Given the description of an element on the screen output the (x, y) to click on. 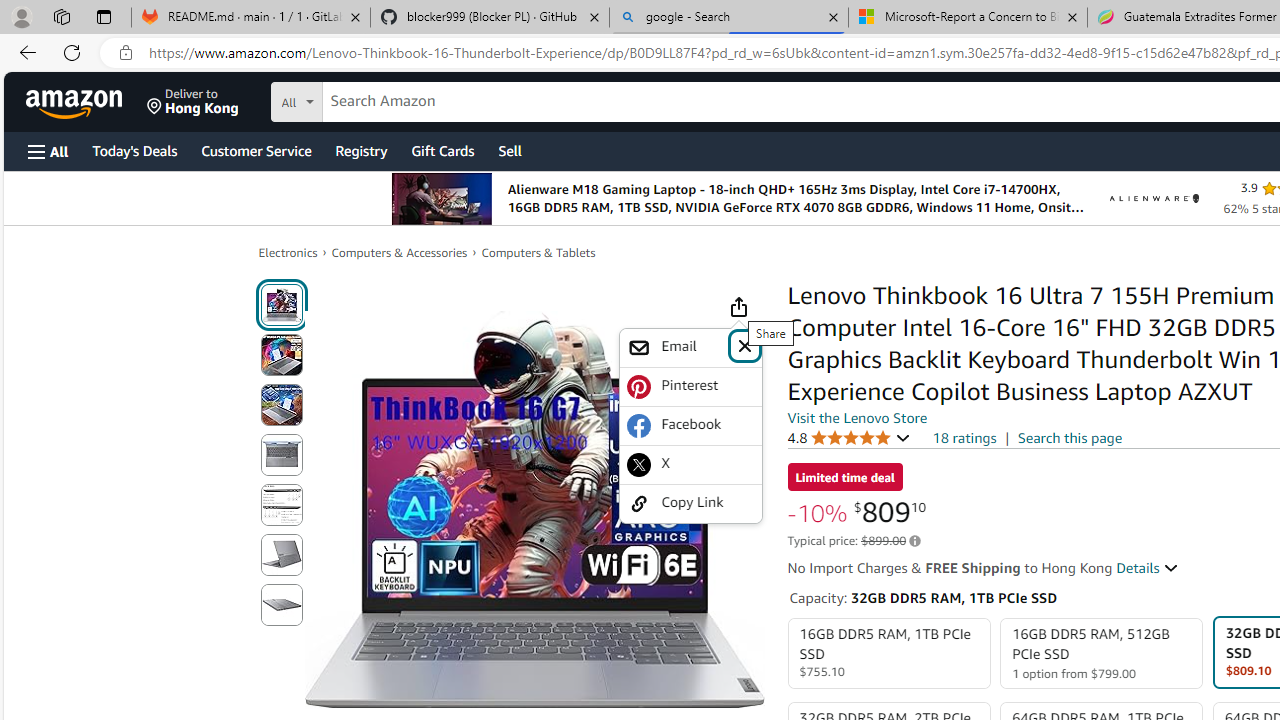
Electronics (287, 252)
16GB DDR5 RAM, 1TB PCIe SSD $755.10 (888, 653)
Today's Deals (134, 150)
Gift Cards (442, 150)
Computers & Accessories (399, 252)
16GB DDR5 RAM, 512GB PCIe SSD 1 option from $799.00 (1101, 653)
Facebook (690, 425)
Learn more about Amazon pricing and savings (914, 541)
